Given the description of an element on the screen output the (x, y) to click on. 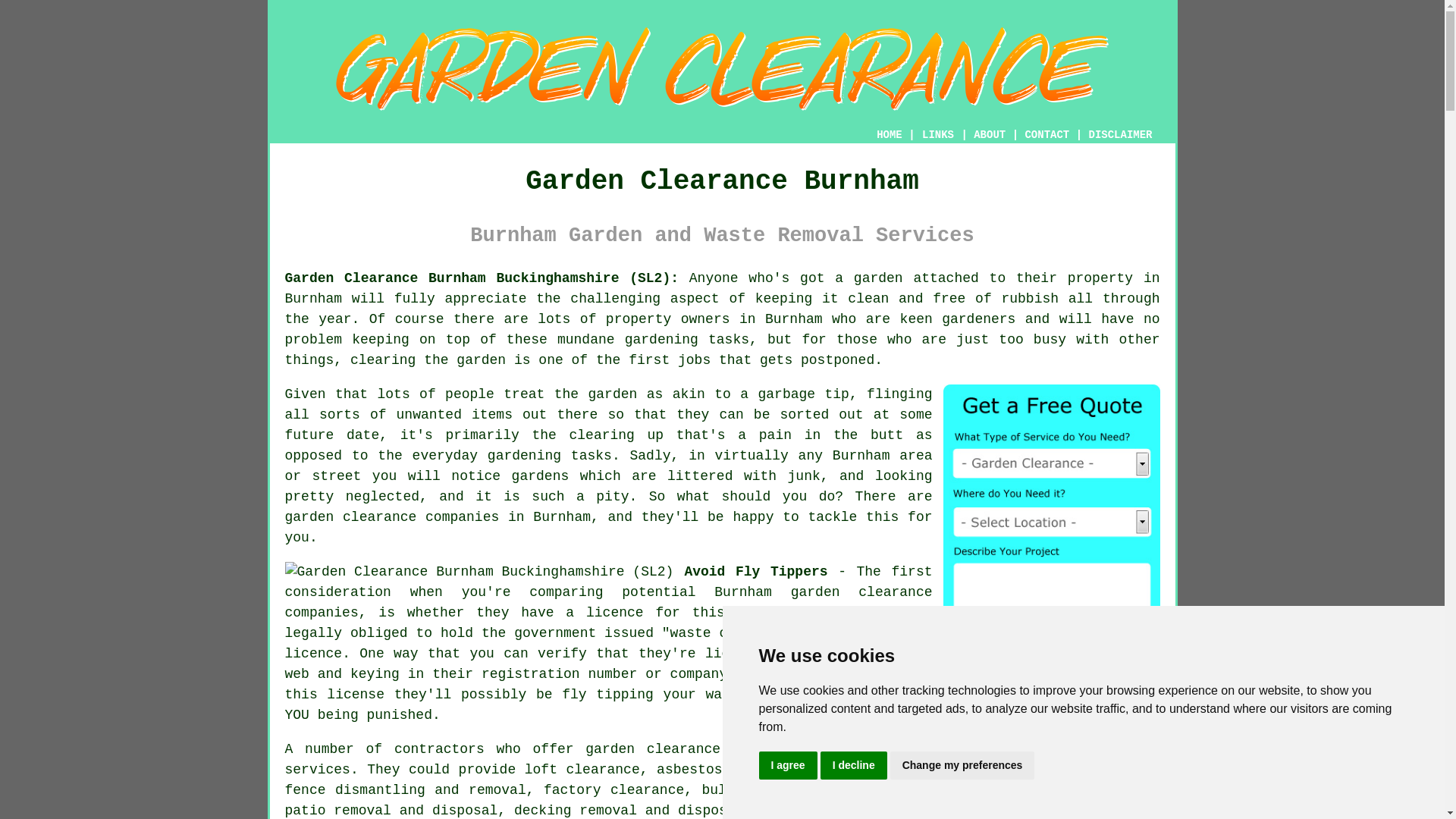
garden clearance (652, 749)
LINKS (938, 134)
Garden Clearance Burnham (721, 69)
licence (614, 612)
I agree (787, 765)
fly tipping (607, 694)
Change my preferences (962, 765)
garden (612, 394)
HOME (889, 134)
garden clearance (861, 591)
